Given the description of an element on the screen output the (x, y) to click on. 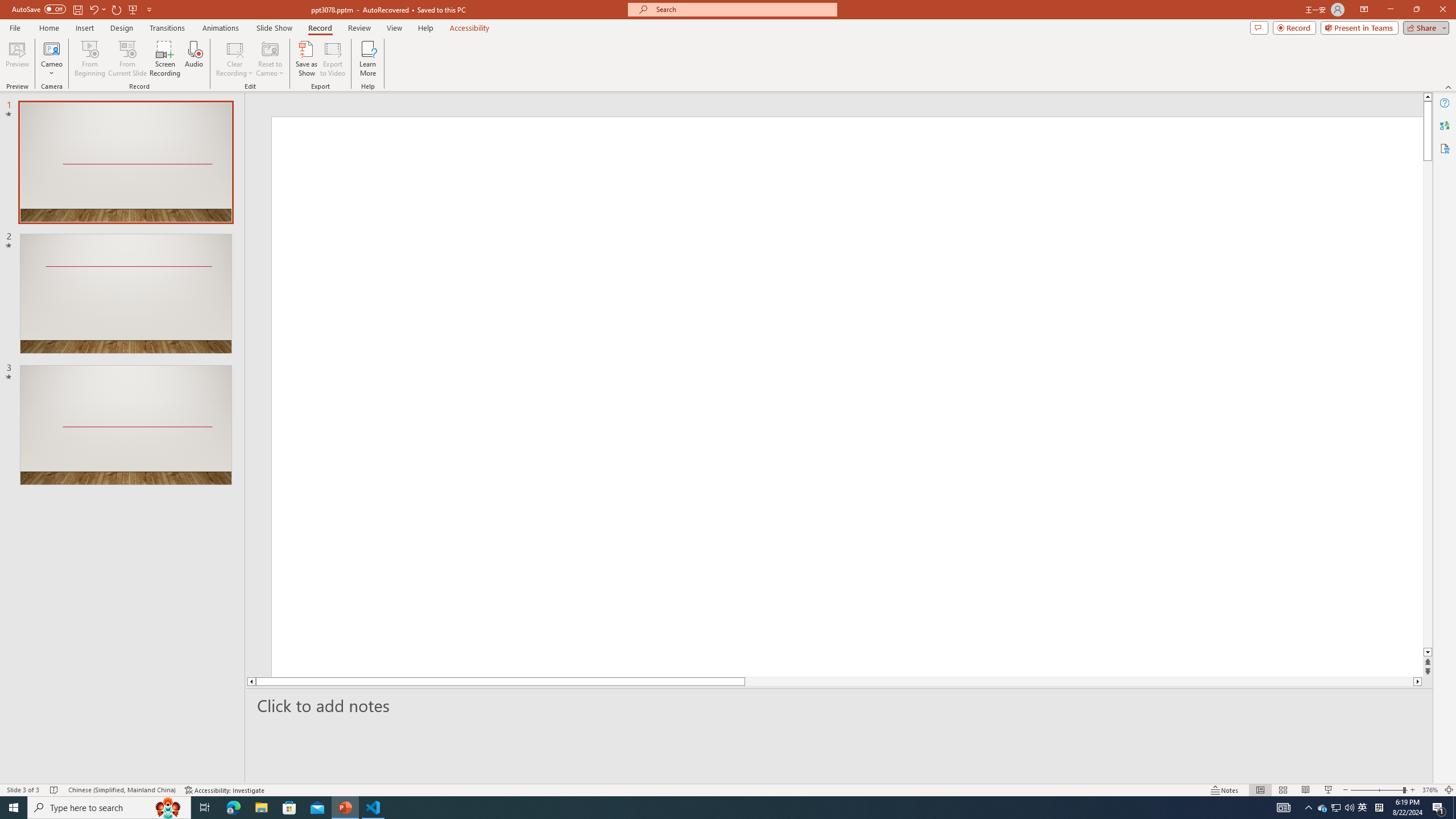
Save as Show (306, 58)
Screen Recording (165, 58)
Cameo (51, 48)
Slide Notes (839, 705)
Accessibility Checker Accessibility: Investigate (224, 790)
Spell Check No Errors (54, 790)
Class: MsoCommandBar (728, 789)
Learn More (368, 58)
